Given the description of an element on the screen output the (x, y) to click on. 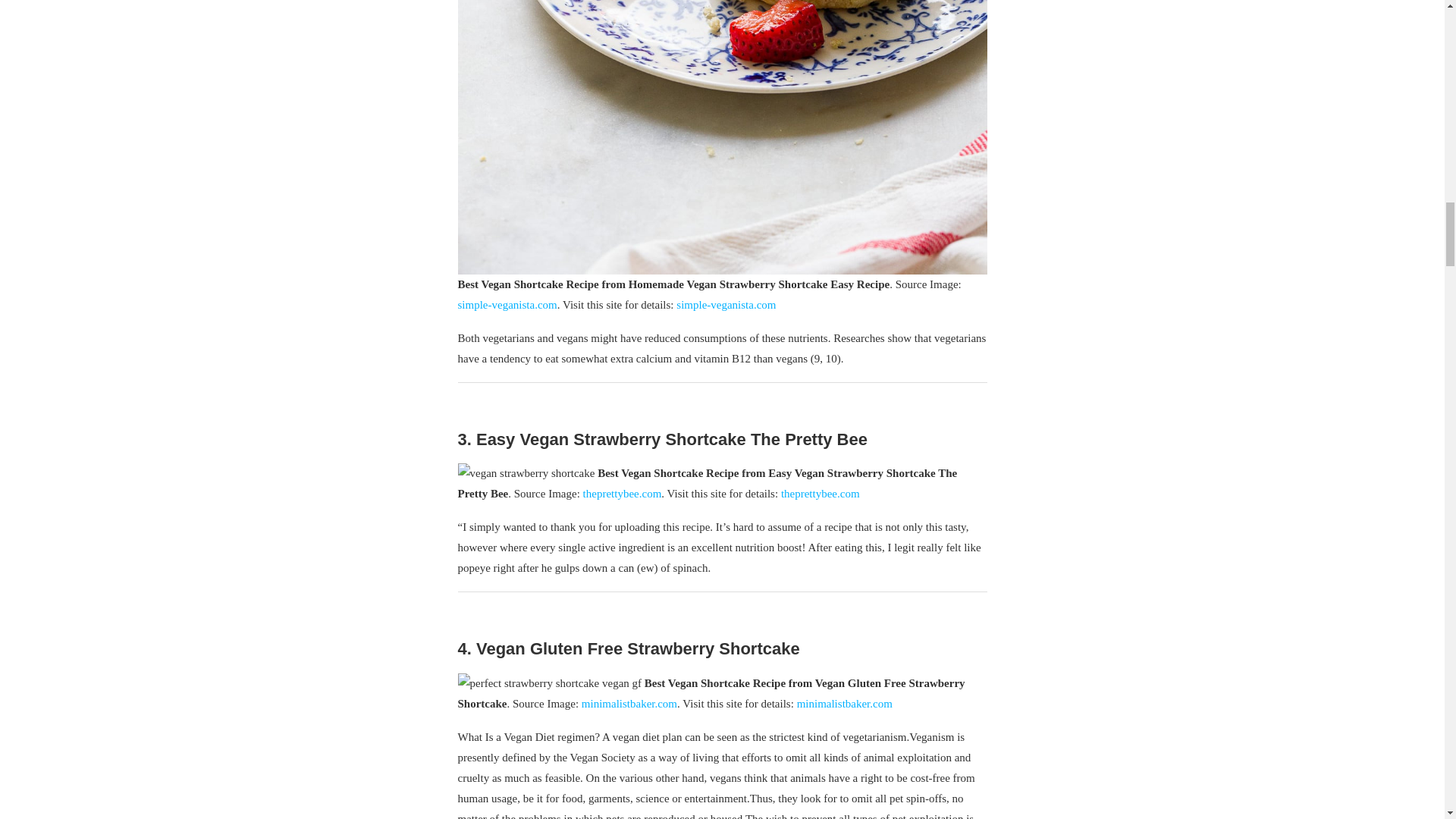
perfect strawberry shortcake vegan gf (550, 683)
vegan strawberry shortcake (526, 473)
